Given the description of an element on the screen output the (x, y) to click on. 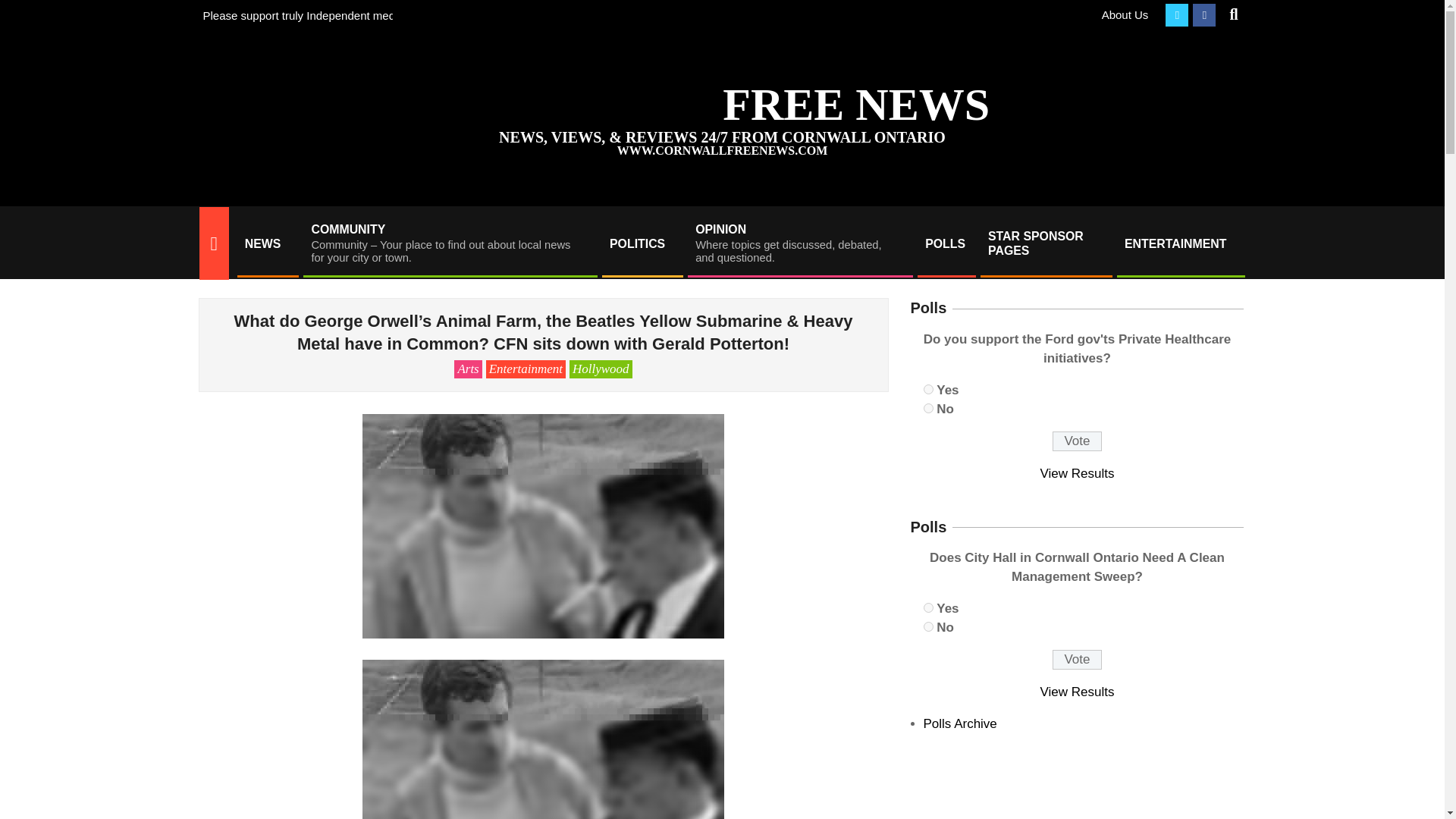
NEWS (265, 243)
1771 (928, 626)
1770 (928, 607)
POLLS (945, 243)
1777 (928, 408)
ENTERTAINMENT (1179, 243)
   Vote    (1076, 441)
About Us (1125, 14)
1776 (799, 243)
